Given the description of an element on the screen output the (x, y) to click on. 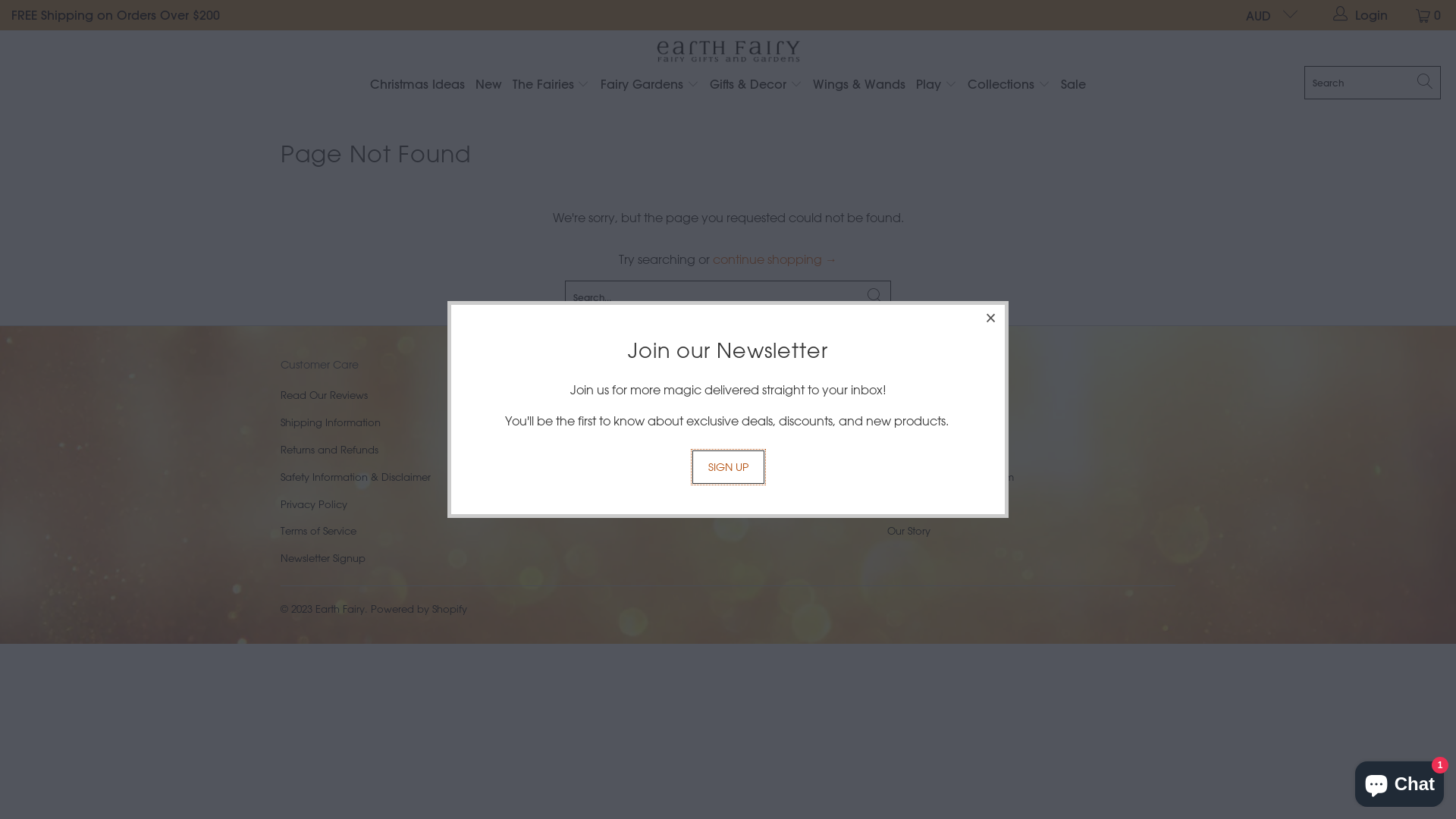
Our Blog Element type: text (907, 503)
Collections Element type: text (1008, 84)
Privacy Policy Element type: text (313, 503)
Sale Element type: text (1072, 84)
Earth Fairy Element type: text (339, 608)
Wings & Wands Element type: text (858, 84)
Read Our Reviews Element type: text (323, 394)
Earth Fairy on Instagram Element type: hover (648, 467)
Play Element type: text (936, 84)
AUD Element type: text (1265, 15)
New Element type: text (488, 84)
Earth Fairy on Pinterest Element type: hover (622, 467)
FREE Shipping on Orders Over $200 Element type: text (115, 15)
Shipping Information Element type: text (330, 421)
Our Story Element type: text (908, 530)
Earth Fairy Element type: hover (727, 51)
Customer Photos Element type: text (928, 394)
Powered by Shopify Element type: text (418, 608)
Gifts & Decor Element type: text (755, 84)
The Fairies Element type: text (550, 84)
SIGN UP Element type: text (727, 467)
Login Element type: text (1360, 15)
Returns and Refunds Element type: text (329, 448)
Shopify online store chat Element type: hover (1399, 780)
Safety Information & Disclaimer Element type: text (355, 476)
Earth Fairy on Facebook Element type: hover (594, 467)
Email Earth Fairy Element type: hover (676, 467)
FAQ Element type: text (897, 448)
Fairy Gardens Element type: text (649, 84)
Close Element type: hover (990, 318)
Our Ambassador Program Element type: text (950, 476)
Contact Us Element type: text (914, 421)
Terms of Service Element type: text (318, 530)
Newsletter Signup Element type: text (322, 557)
Christmas Ideas Element type: text (417, 84)
